Given the description of an element on the screen output the (x, y) to click on. 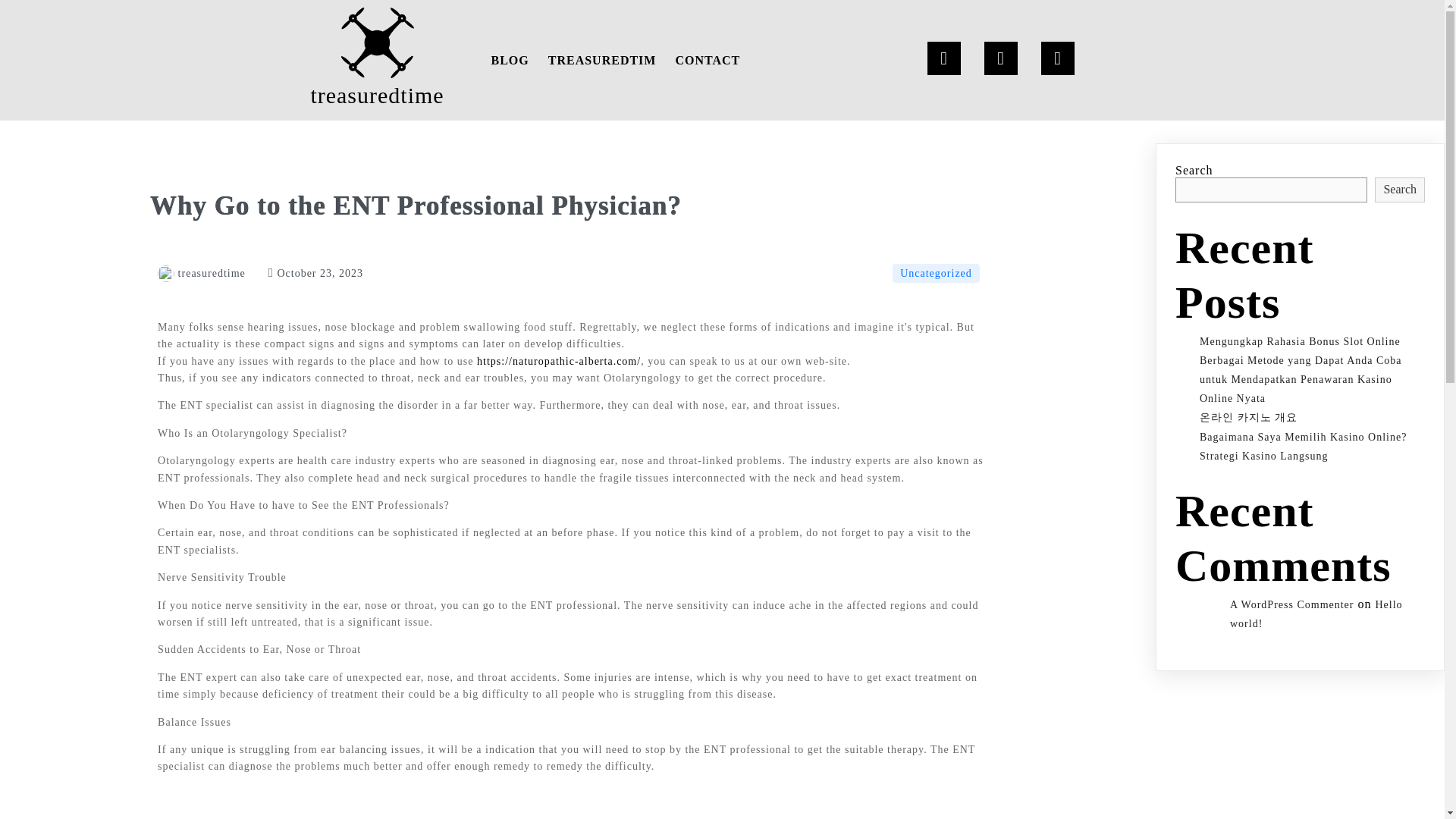
Mengungkap Rahasia Bonus Slot Online (1299, 341)
Bagaimana Saya Memilih Kasino Online? (1302, 437)
Hello world! (1316, 613)
fab fa-twitter-square (920, 816)
CONTACT (707, 59)
Strategi Kasino Langsung (1263, 455)
Share on Twitter (920, 816)
Search (1399, 189)
treasuredtime (201, 272)
